Given the description of an element on the screen output the (x, y) to click on. 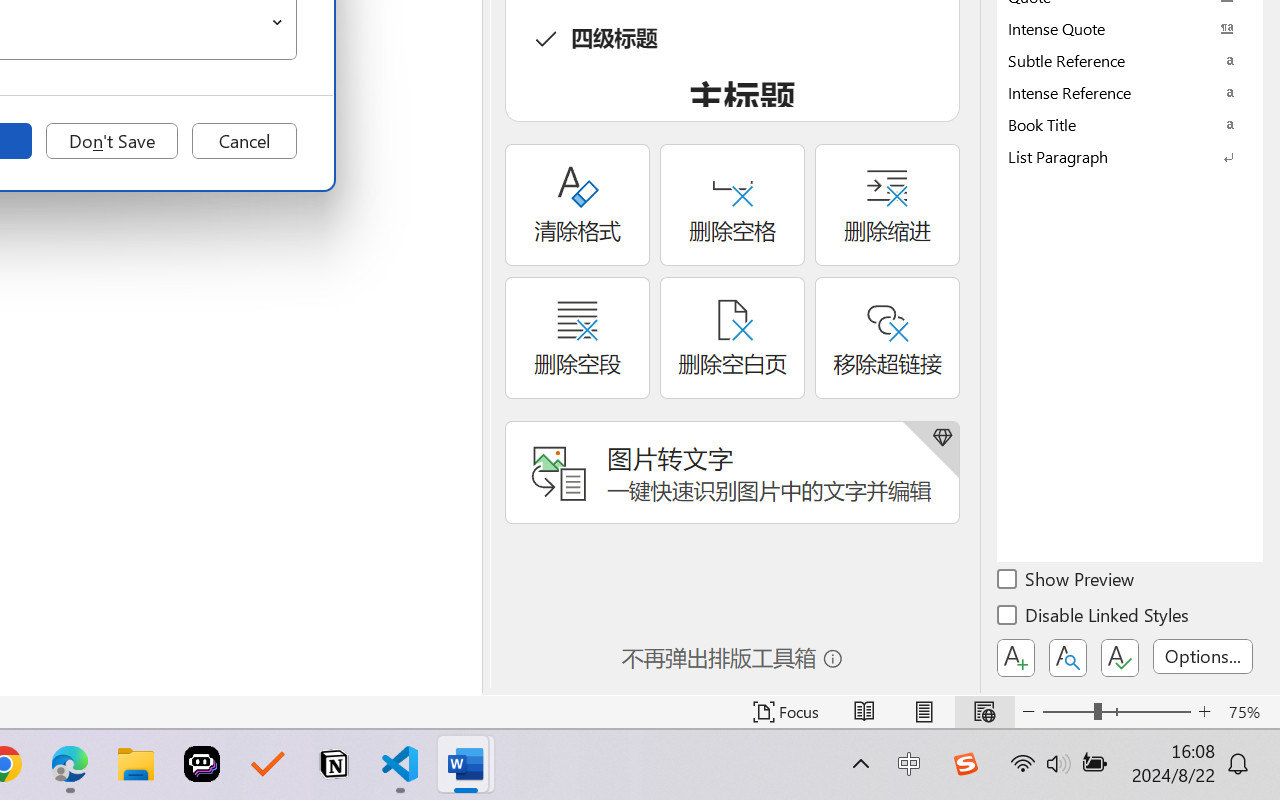
Options... (1203, 656)
Read Mode (864, 712)
Class: Image (965, 764)
Show Preview (1067, 582)
List Paragraph (1130, 156)
Book Title (1130, 124)
Class: NetUIButton (1119, 657)
